Given the description of an element on the screen output the (x, y) to click on. 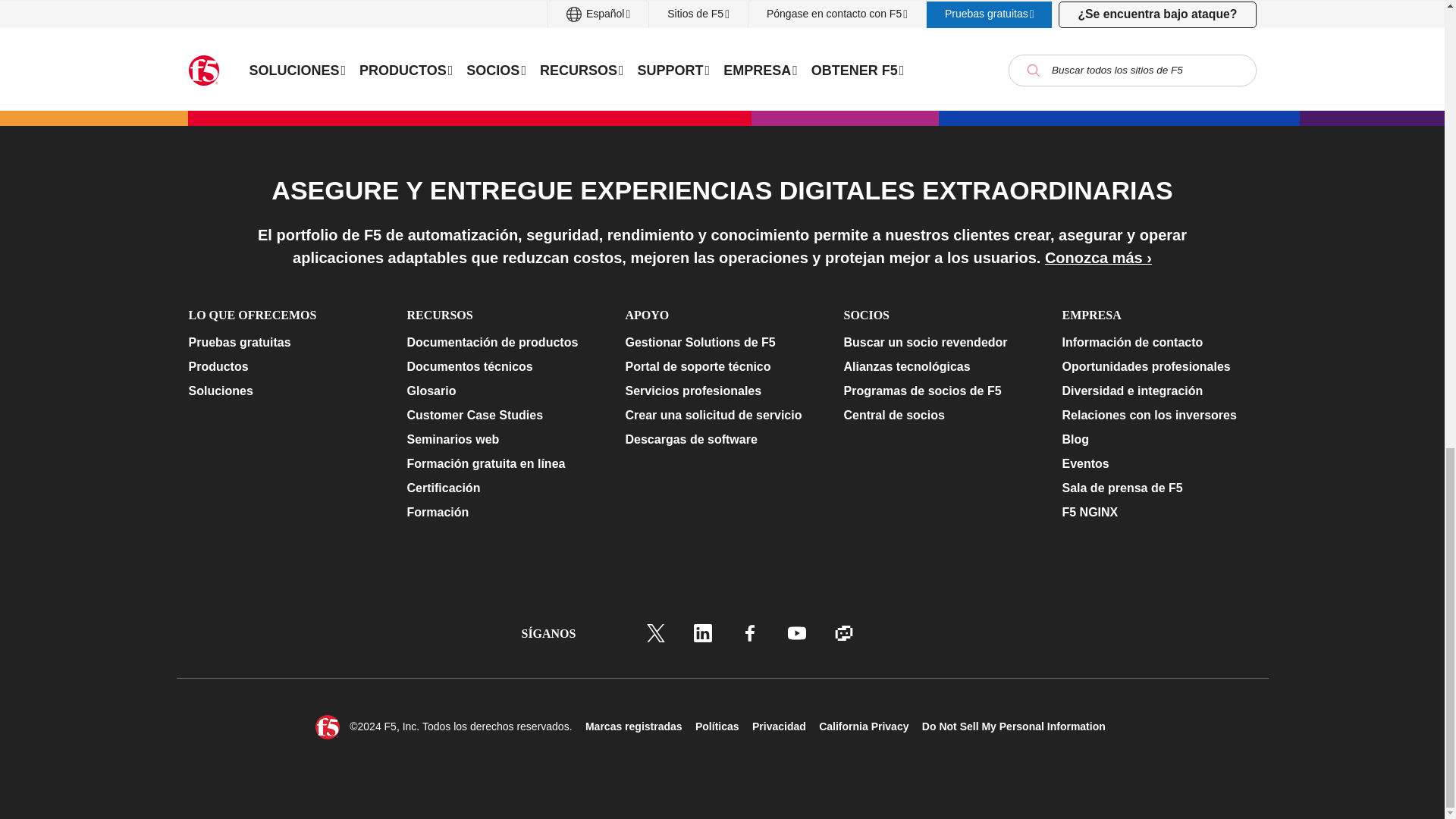
Pruebas gratuitas (284, 342)
Productos (284, 366)
Soluciones (284, 391)
Seminarios web (502, 439)
RSAC Innovation Sandbox Contest (899, 24)
Servicios profesionales (721, 391)
Glosario (502, 391)
Customer Case Studies (502, 415)
Gestionar Solutions de F5 (721, 342)
RSAC Innovation Sandbox Contest (899, 24)
